Given the description of an element on the screen output the (x, y) to click on. 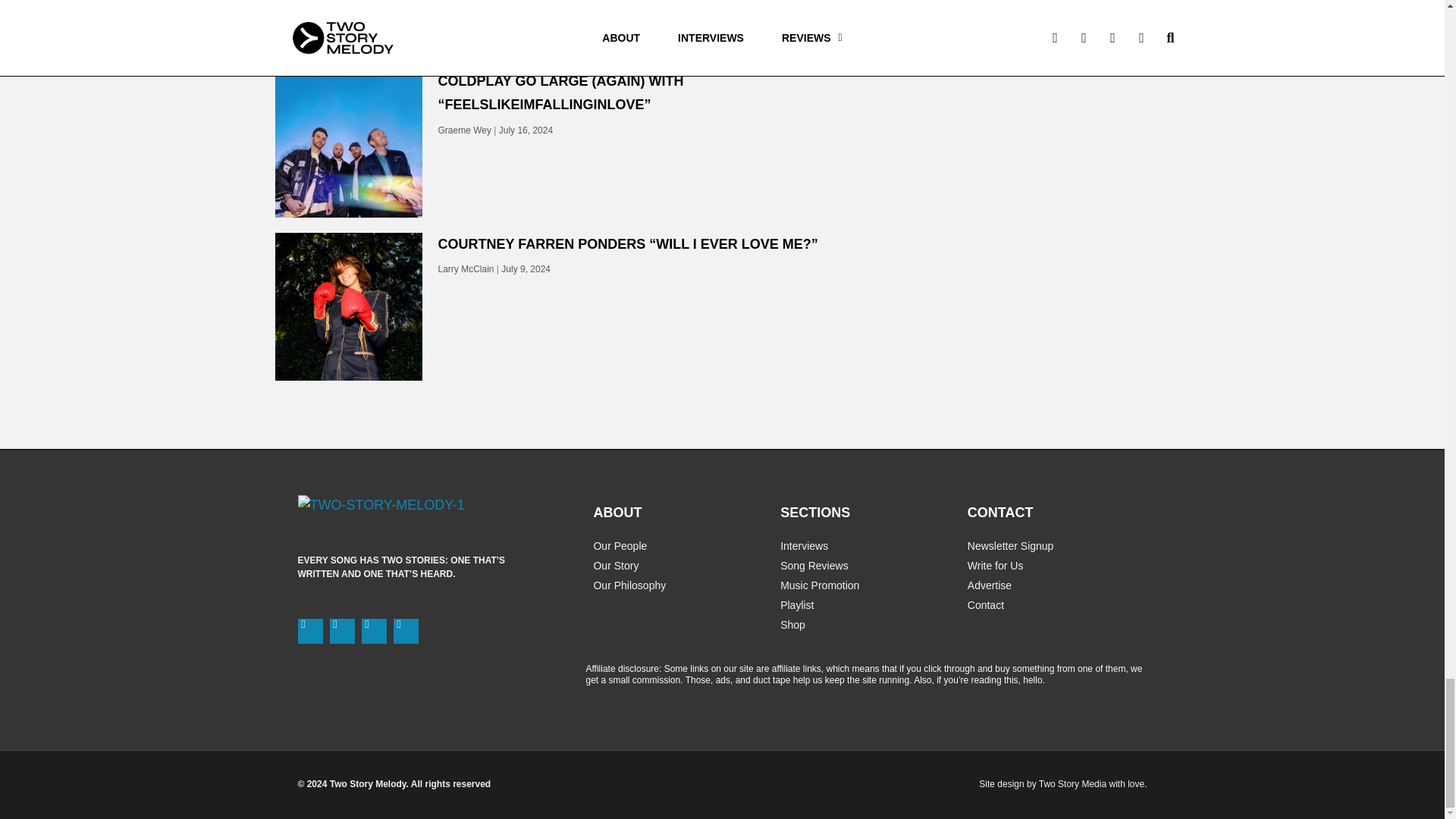
TWO-STORY-MELODY-1 (380, 505)
